Given the description of an element on the screen output the (x, y) to click on. 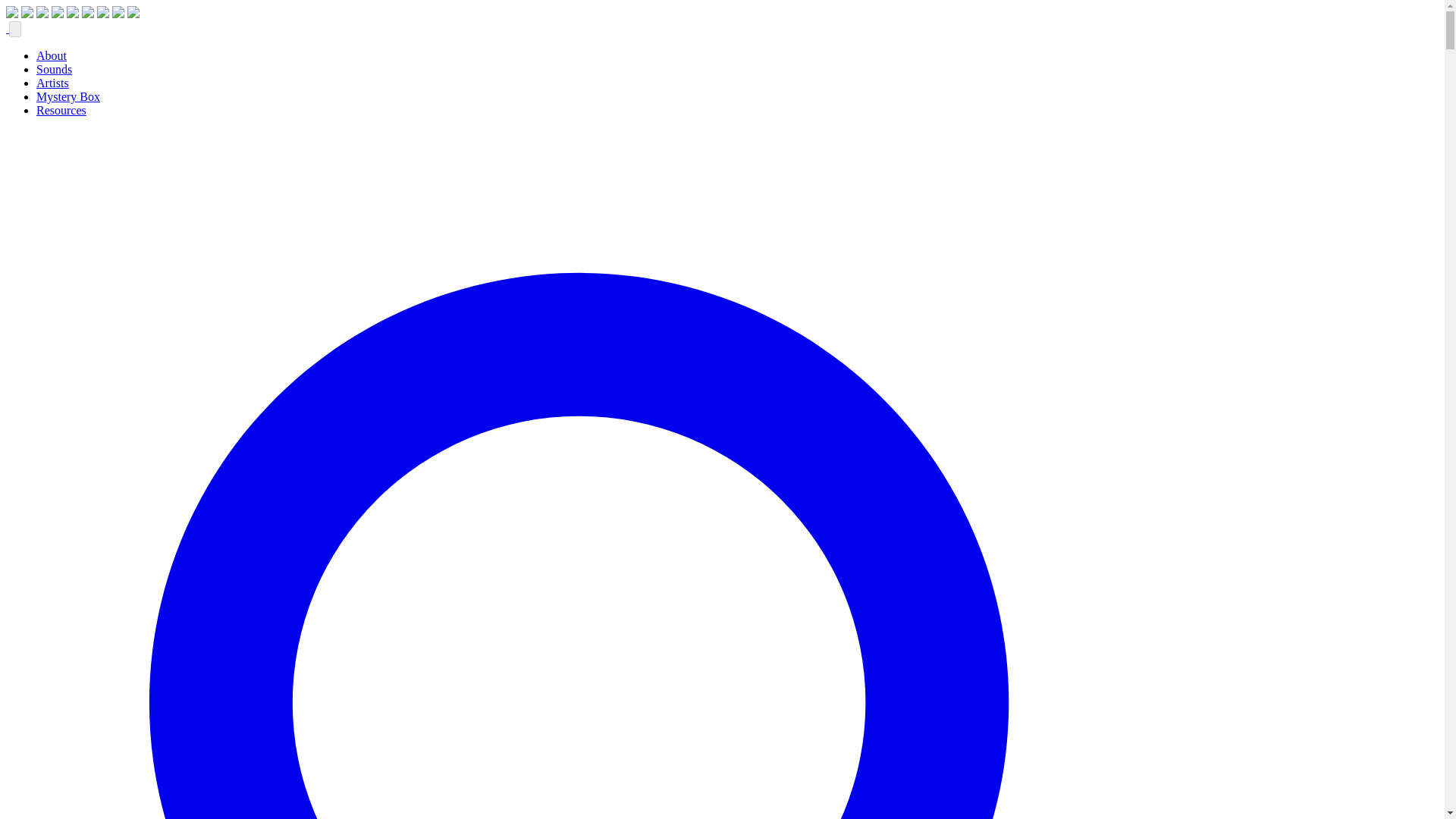
Resources (60, 110)
About (51, 55)
Artists (52, 82)
Mystery Box (68, 96)
Sounds (53, 69)
